Given the description of an element on the screen output the (x, y) to click on. 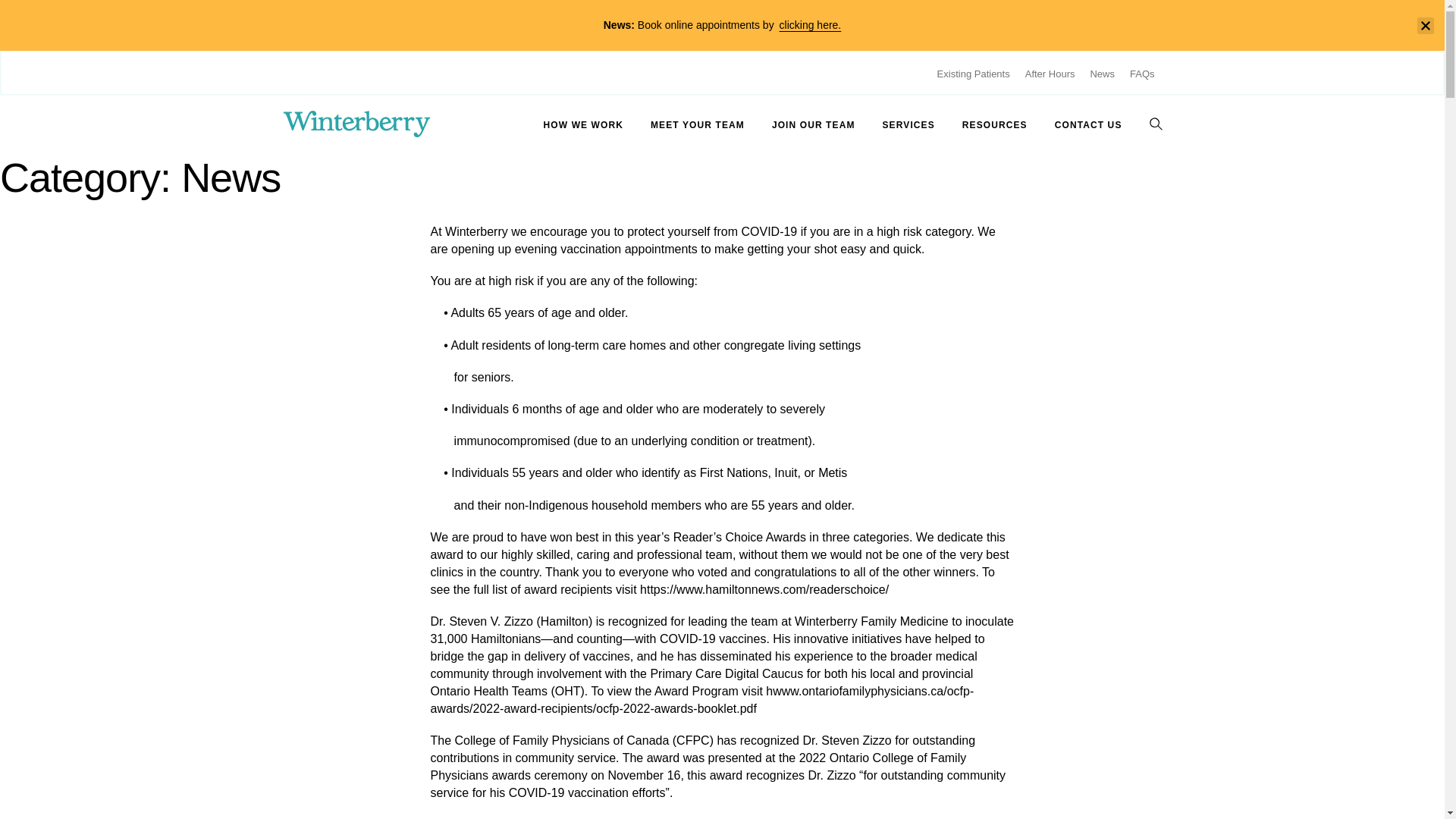
RESOURCES (994, 124)
News (1102, 73)
JOIN OUR TEAM (813, 124)
FAQs (1141, 73)
CONTACT US (1088, 124)
SERVICES (908, 124)
HOW WE WORK (583, 124)
Existing Patients (973, 73)
After Hours (1050, 73)
MEET YOUR TEAM (697, 124)
Winterberry Family Medicine (355, 124)
clicking here. (809, 24)
